Given the description of an element on the screen output the (x, y) to click on. 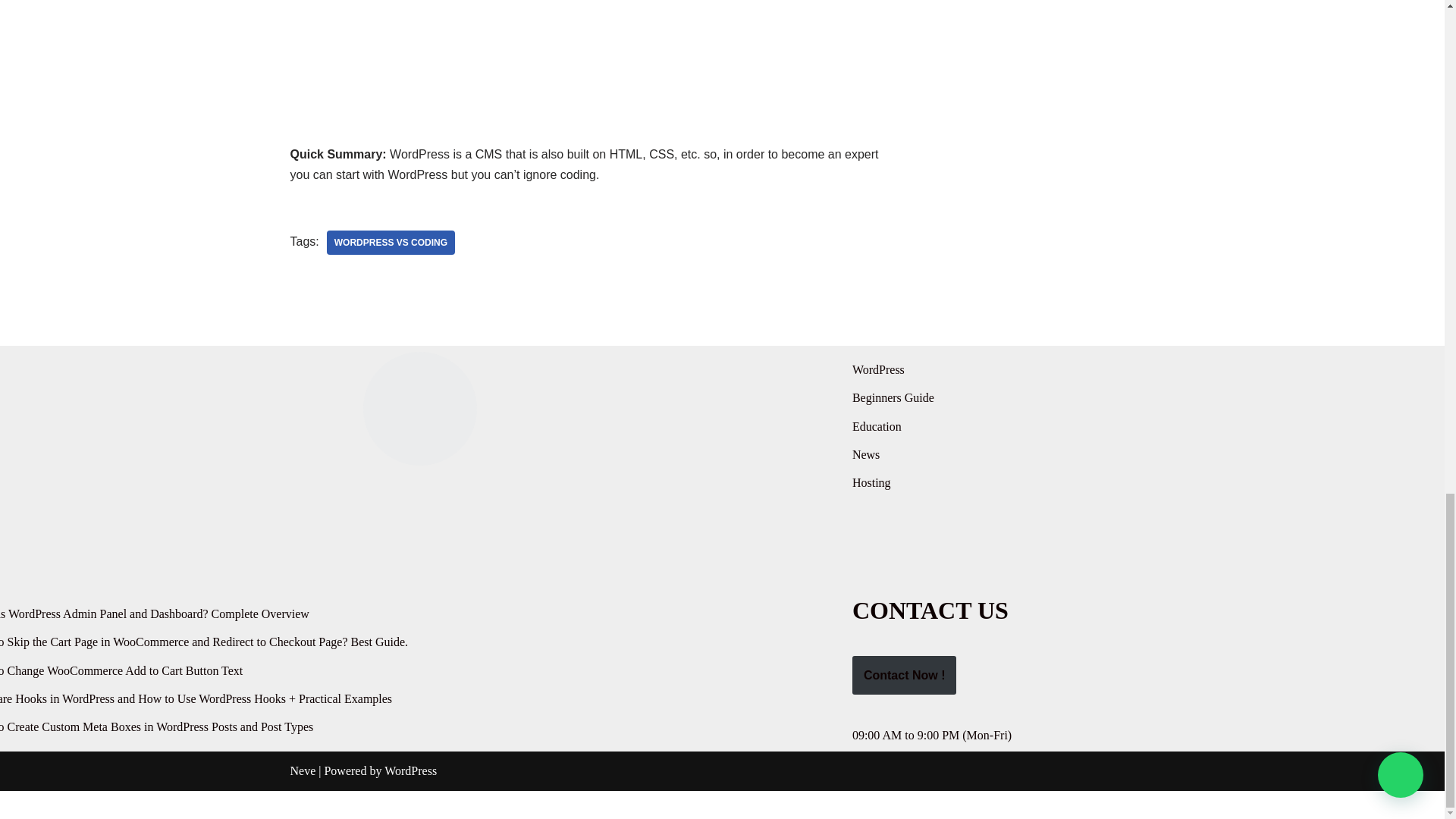
WordPress vs Coding (390, 242)
